Given the description of an element on the screen output the (x, y) to click on. 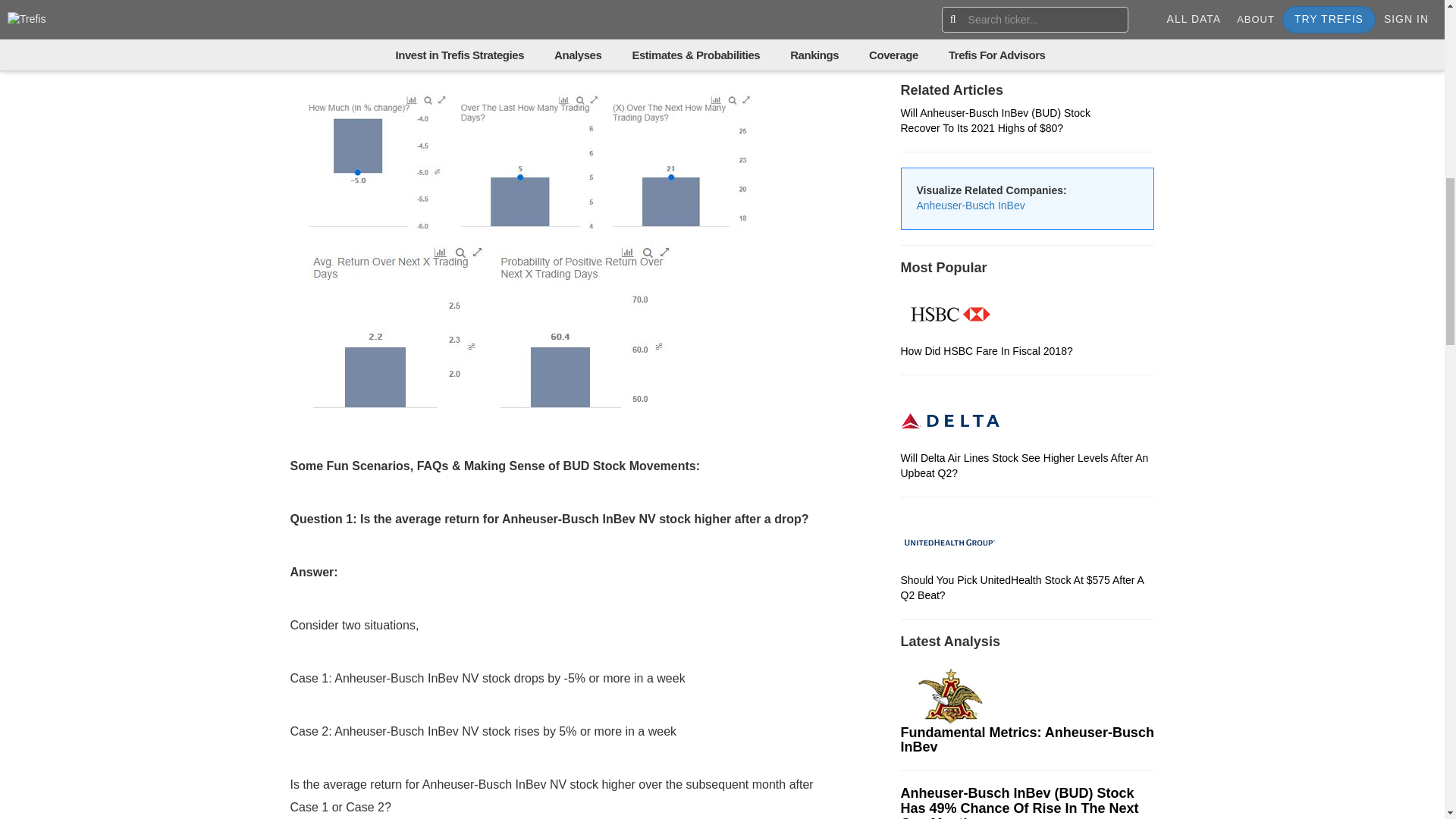
Dates Cached For BUD (1027, 54)
